Given the description of an element on the screen output the (x, y) to click on. 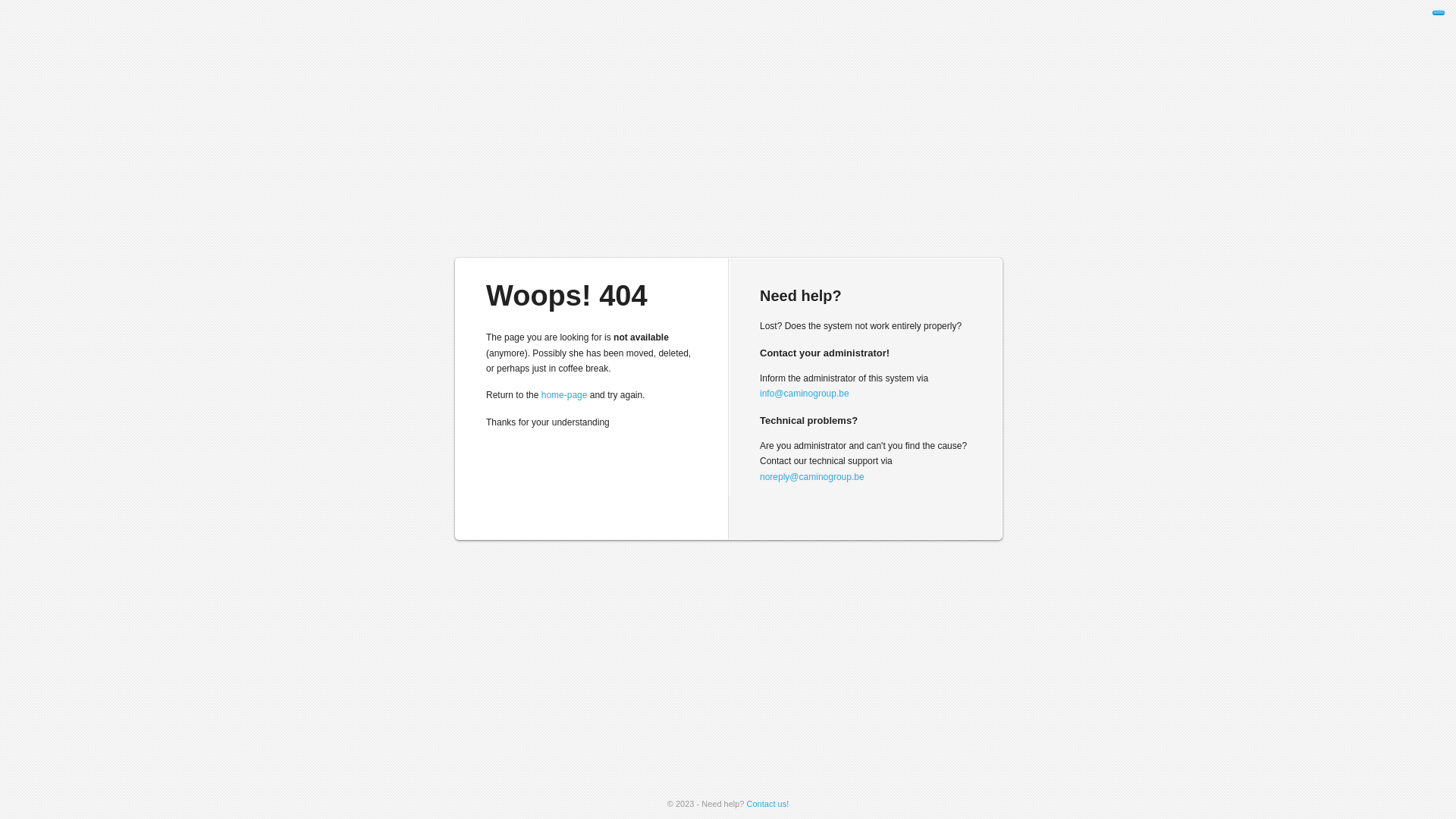
noreply@caminogroup.be Element type: text (811, 476)
info@caminogroup.be Element type: text (804, 393)
home-page Element type: text (564, 394)
An error has occurred Element type: hover (1438, 12)
Contact us! Element type: text (767, 803)
